Given the description of an element on the screen output the (x, y) to click on. 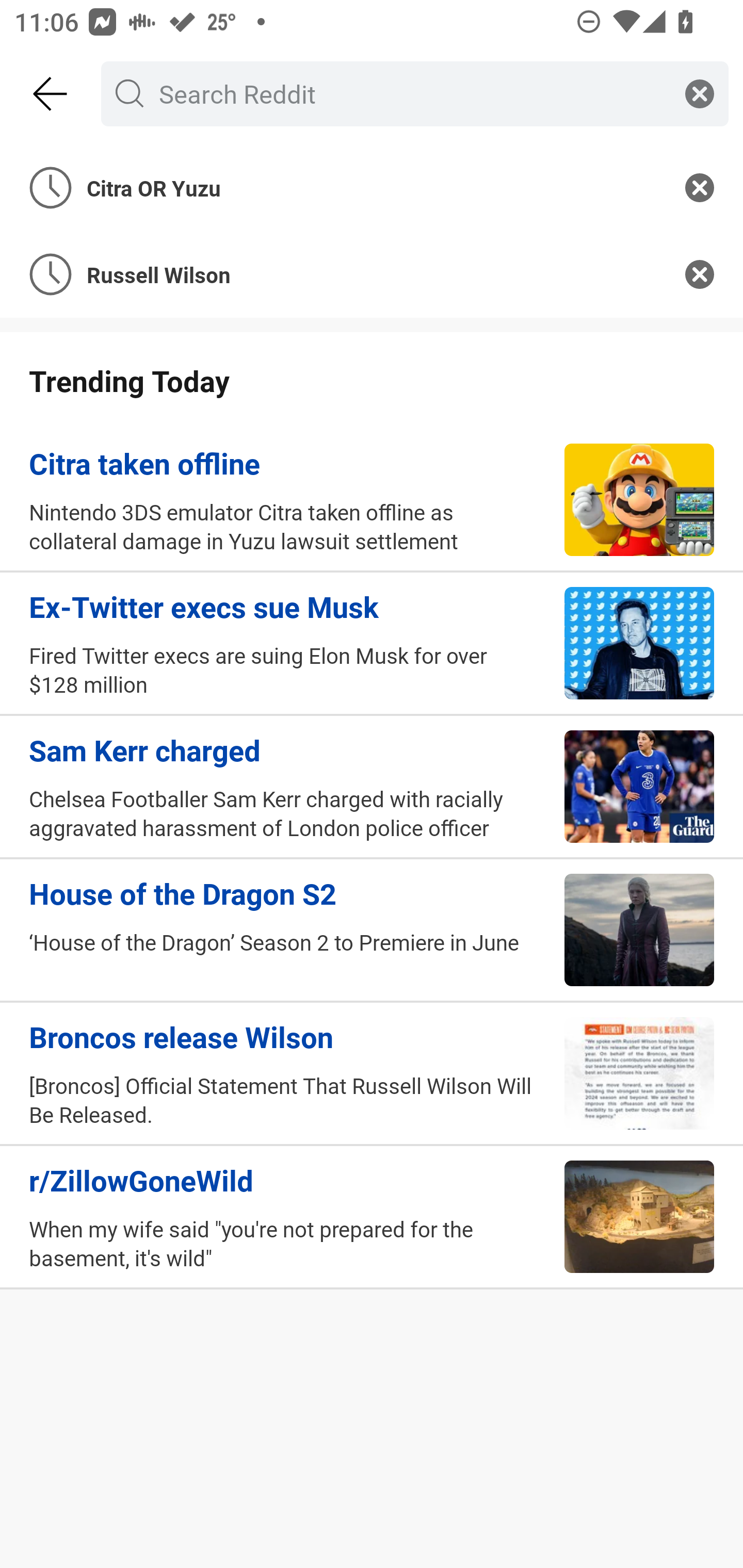
Back (50, 93)
Search Reddit (410, 93)
Clear search (699, 93)
Citra OR Yuzu Recent search: Citra OR Yuzu Remove (371, 187)
Remove (699, 187)
Remove (699, 274)
